Given the description of an element on the screen output the (x, y) to click on. 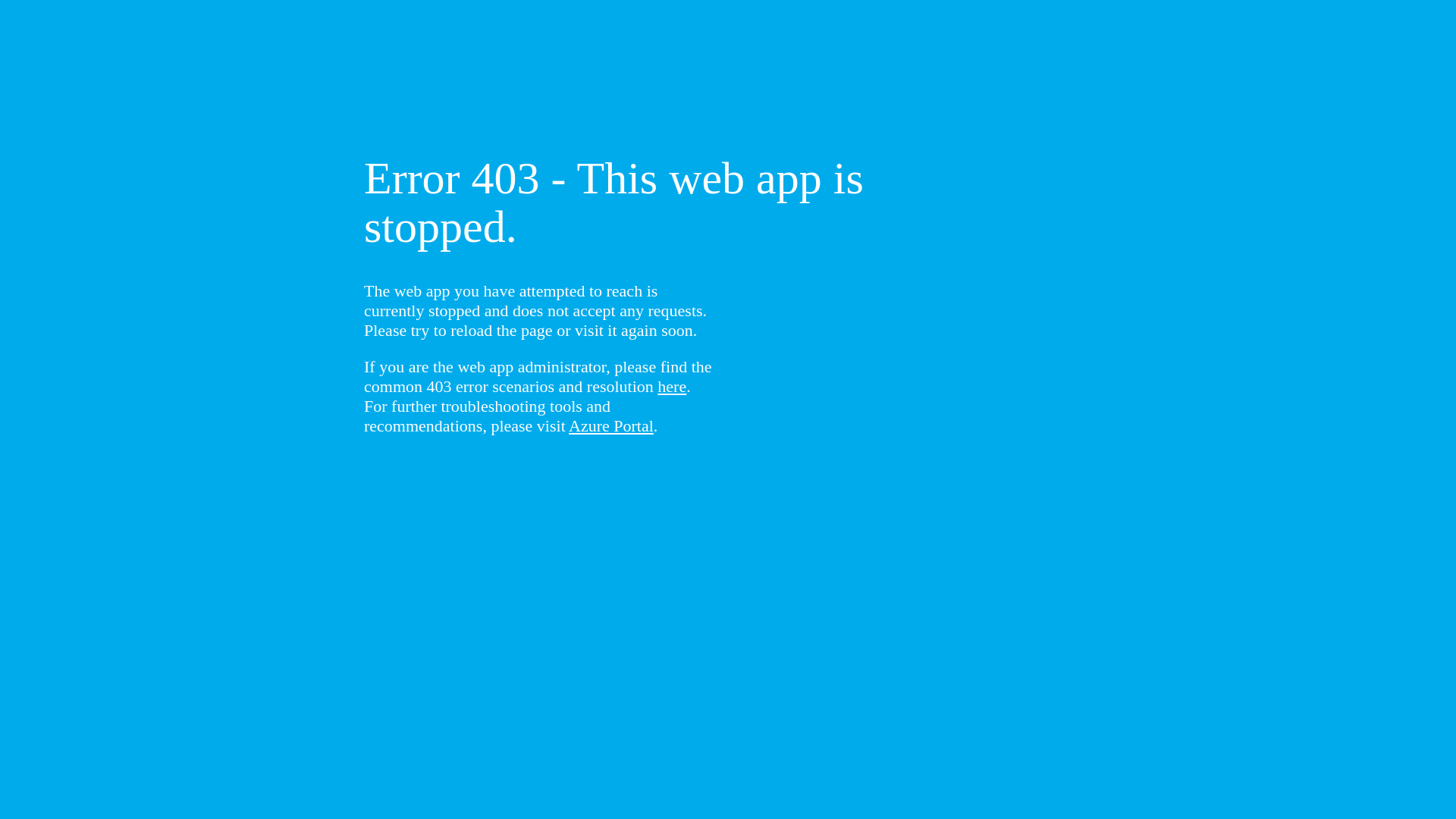
Azure Portal Element type: text (610, 425)
here Element type: text (671, 385)
